Given the description of an element on the screen output the (x, y) to click on. 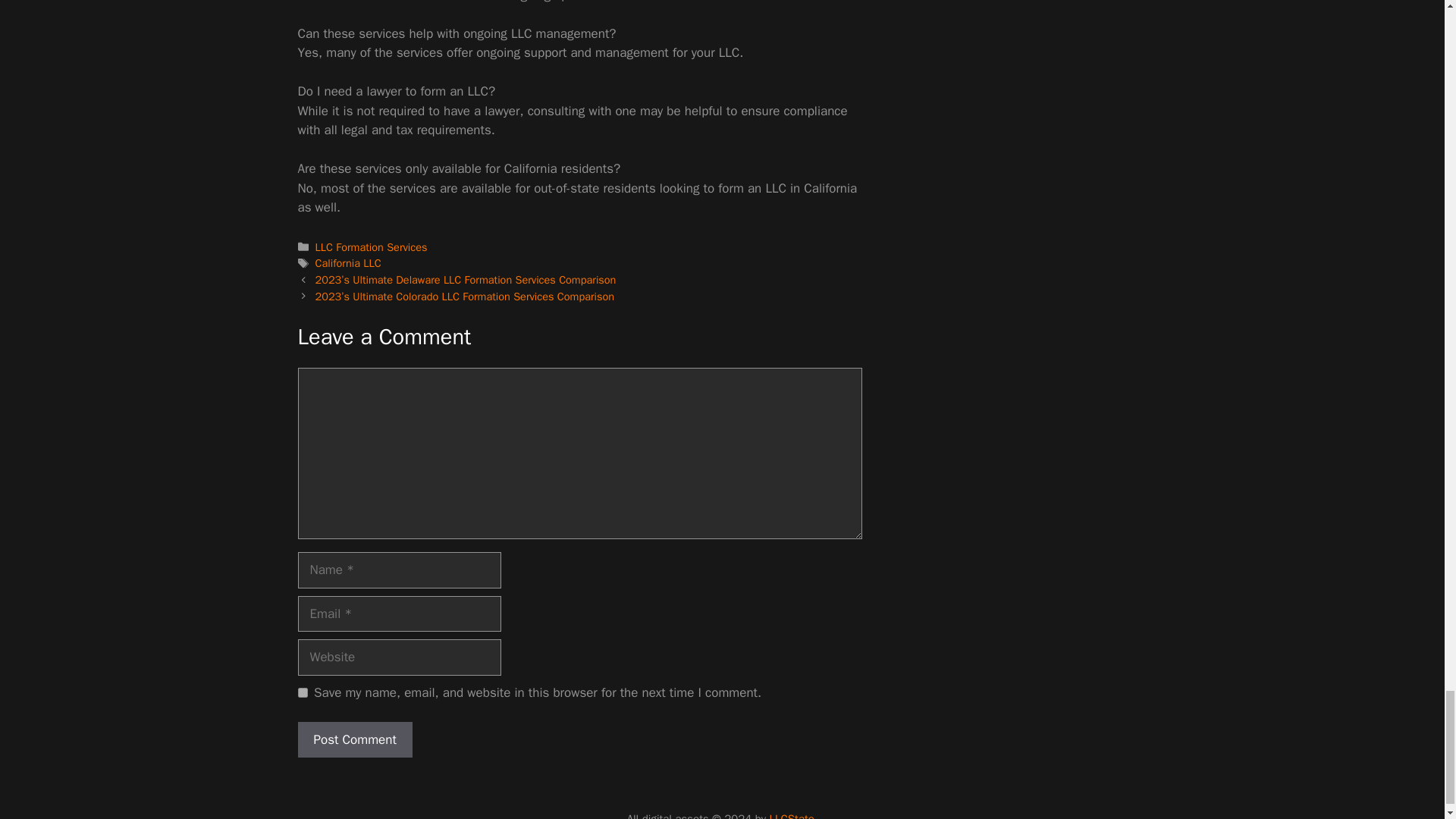
Post Comment (354, 739)
yes (302, 692)
Post Comment (354, 739)
LLC Formation Services (371, 246)
California LLC (348, 263)
